Given the description of an element on the screen output the (x, y) to click on. 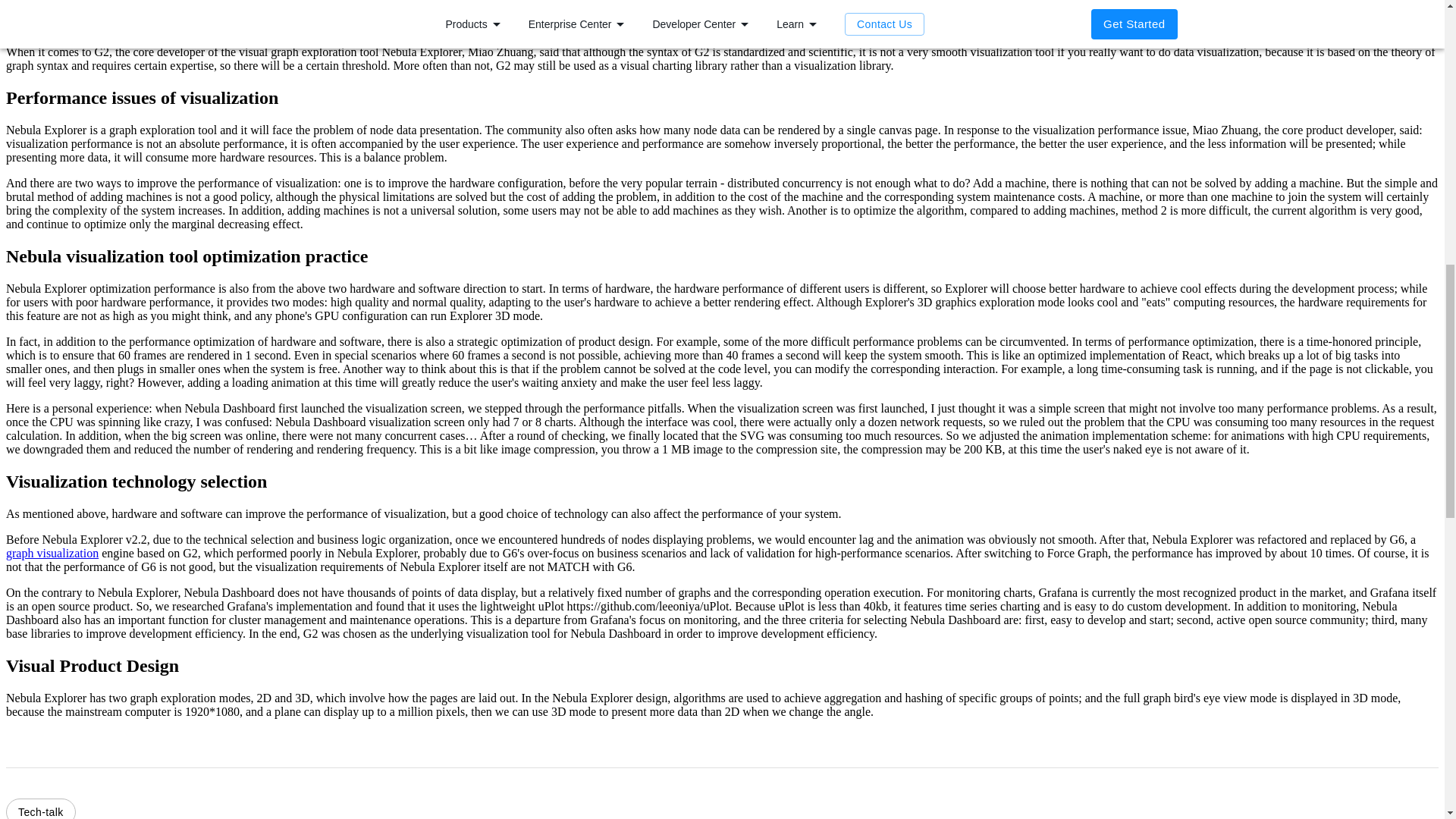
graph visualization (52, 553)
Tech-talk (40, 808)
